Given the description of an element on the screen output the (x, y) to click on. 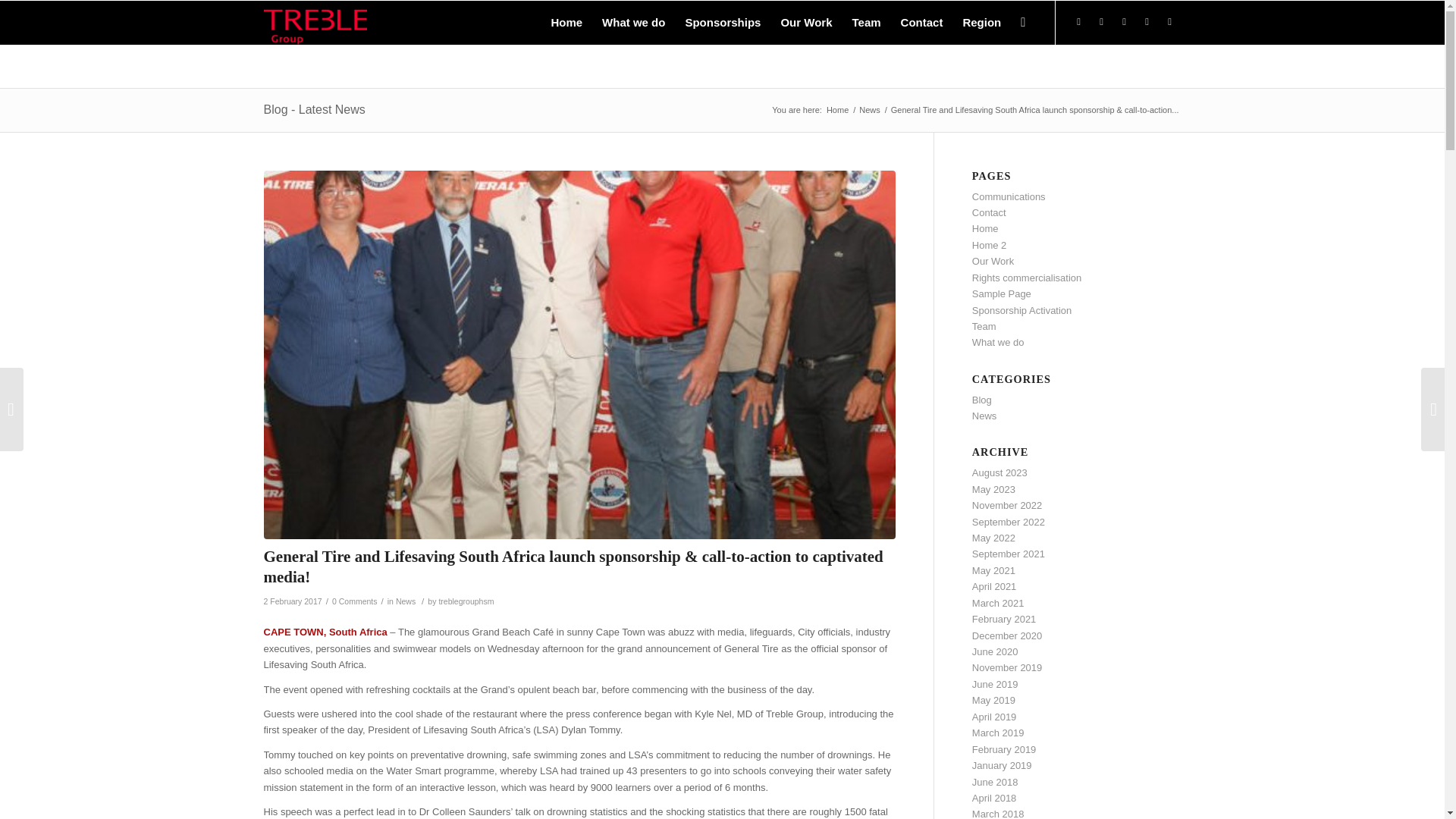
Permanent Link: Blog - Latest News (314, 109)
Home (837, 110)
Team (867, 22)
Posts by treblegrouphsm (465, 601)
Home (566, 22)
Linkedin (1146, 21)
Region (981, 22)
Sponsorships (722, 22)
Facebook (1078, 21)
Instagram (1124, 21)
